Given the description of an element on the screen output the (x, y) to click on. 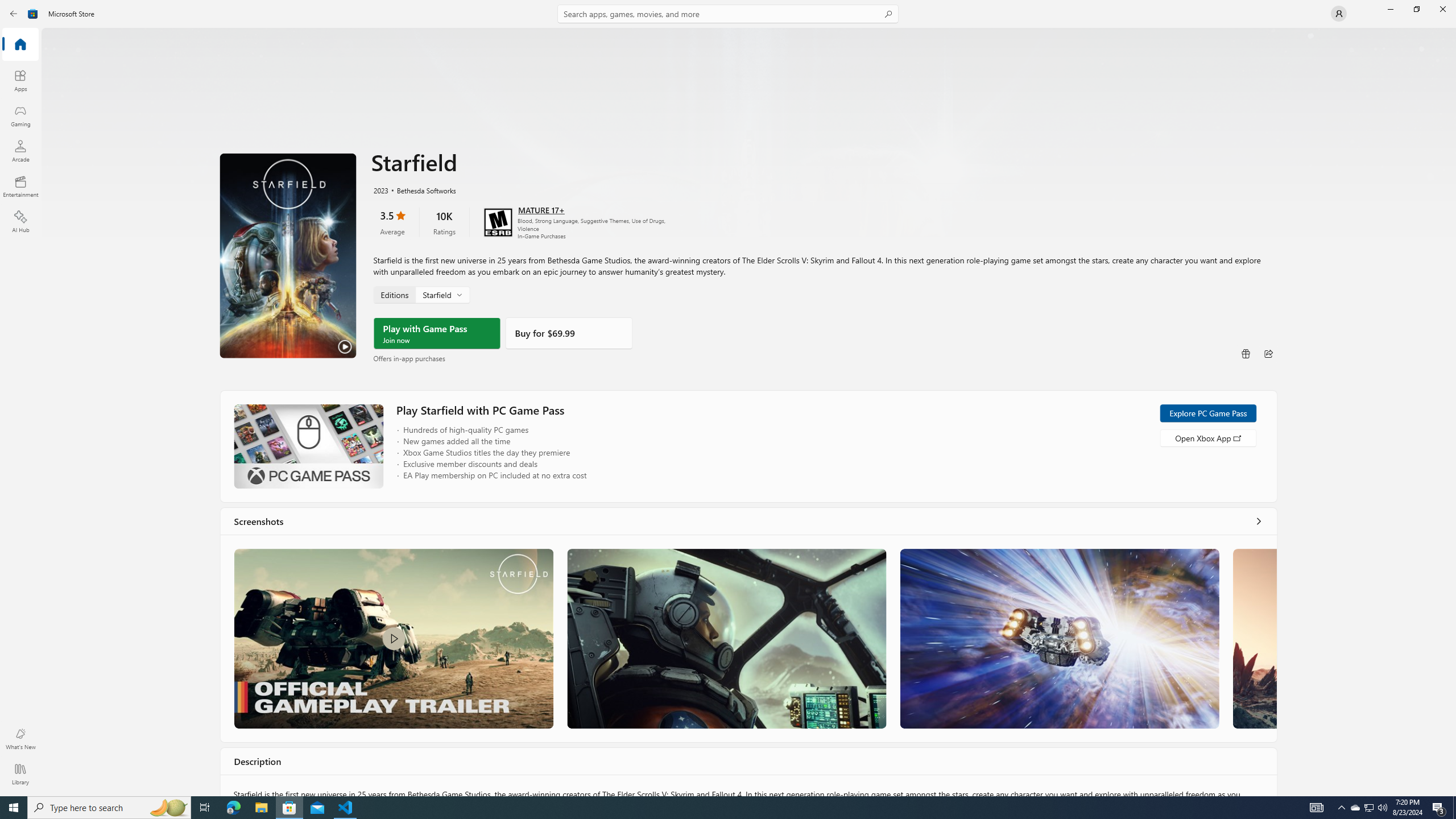
Arcade (20, 150)
Play Trailer (287, 255)
Screenshot 3 (1058, 638)
Gameplay Trailer (393, 638)
User profile (1338, 13)
Home (20, 45)
AI Hub (20, 221)
Starfield, Edition selector (421, 294)
What's New (20, 738)
Buy as gift (1245, 353)
Explore PC Game Pass (1207, 412)
Screenshot 4 (1253, 638)
